Given the description of an element on the screen output the (x, y) to click on. 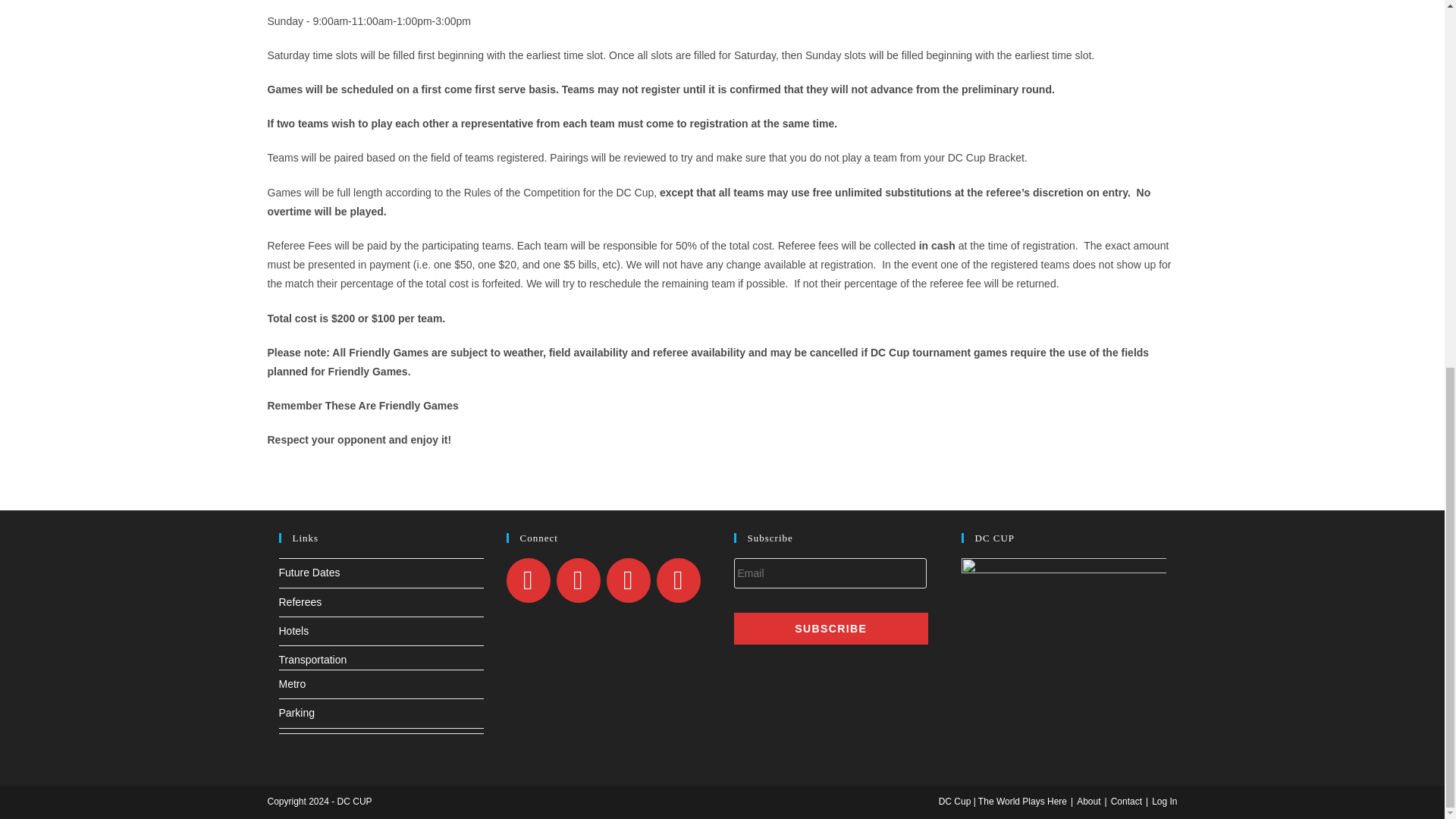
Twitter (528, 579)
Facebook (577, 579)
YouTube (678, 579)
Subscribe (830, 628)
Instagram (628, 579)
